Given the description of an element on the screen output the (x, y) to click on. 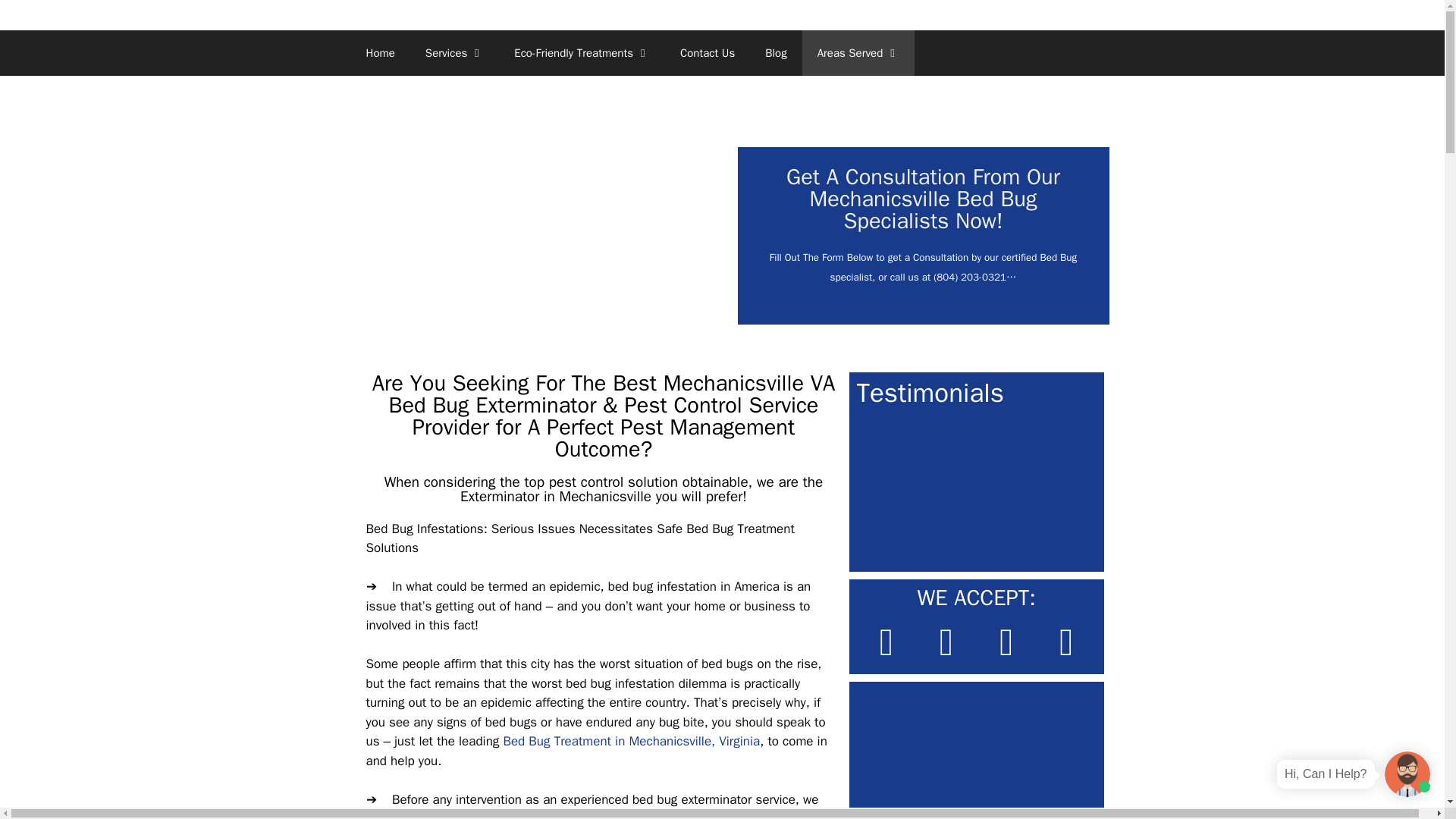
Areas Served (858, 53)
Home (379, 53)
Contact Us (707, 53)
Eco-Friendly Treatments (582, 53)
Services (454, 53)
Blog (775, 53)
